Given the description of an element on the screen output the (x, y) to click on. 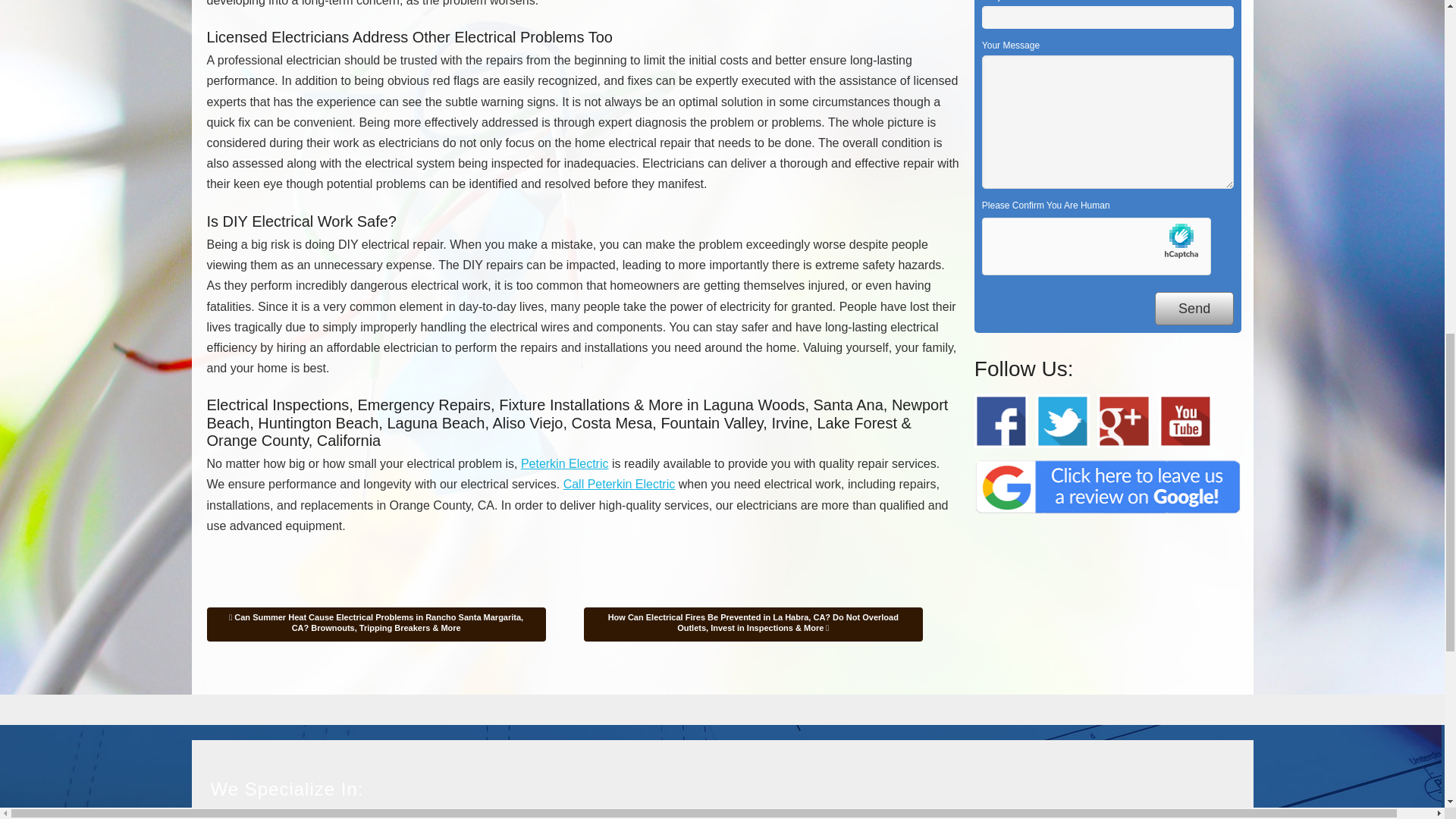
Send (1193, 308)
Call Peterkin Electric (619, 483)
Send (1193, 308)
Peterkin Electric (564, 463)
